Given the description of an element on the screen output the (x, y) to click on. 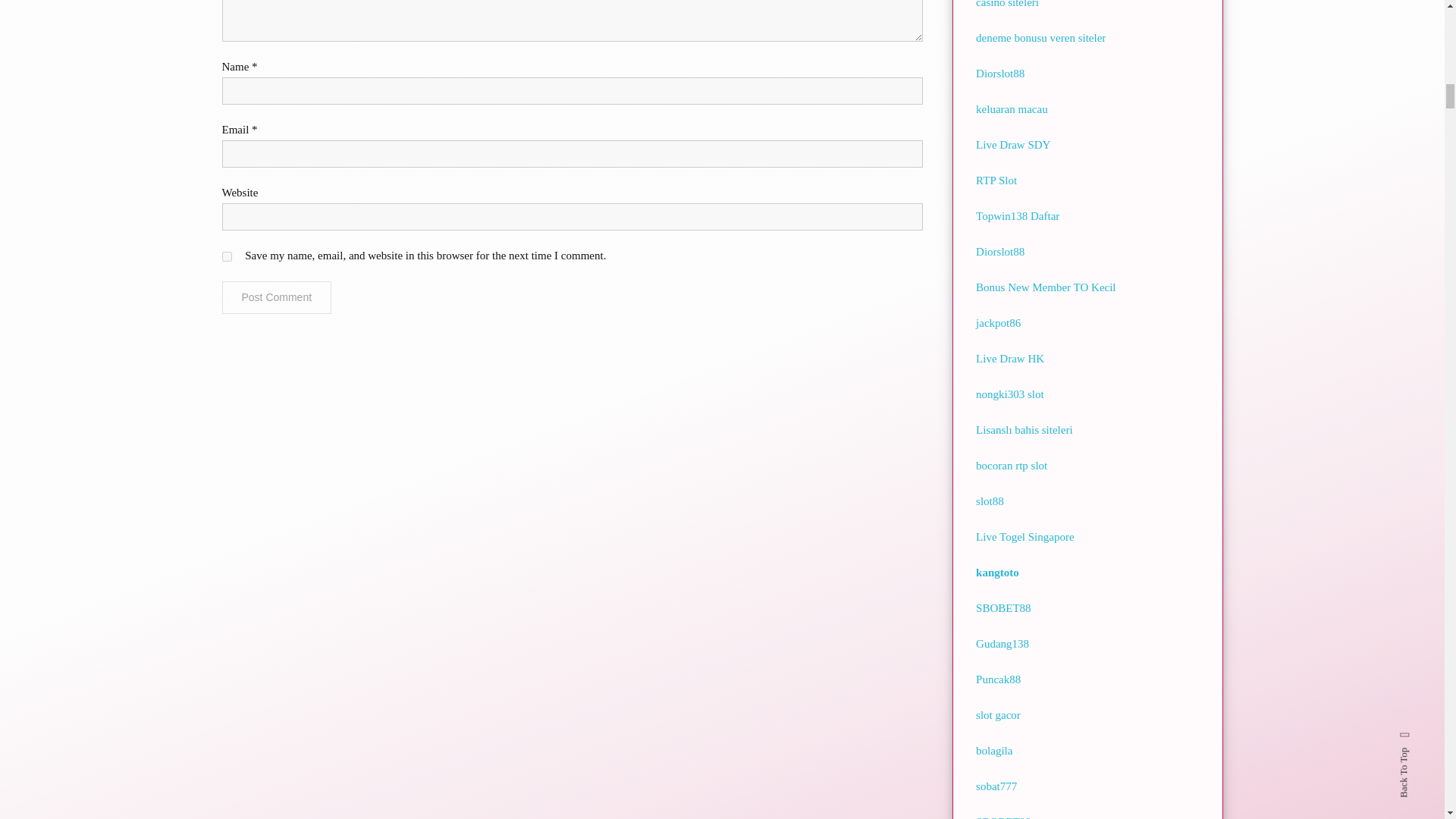
yes (226, 256)
Post Comment (276, 297)
Post Comment (276, 297)
